Given the description of an element on the screen output the (x, y) to click on. 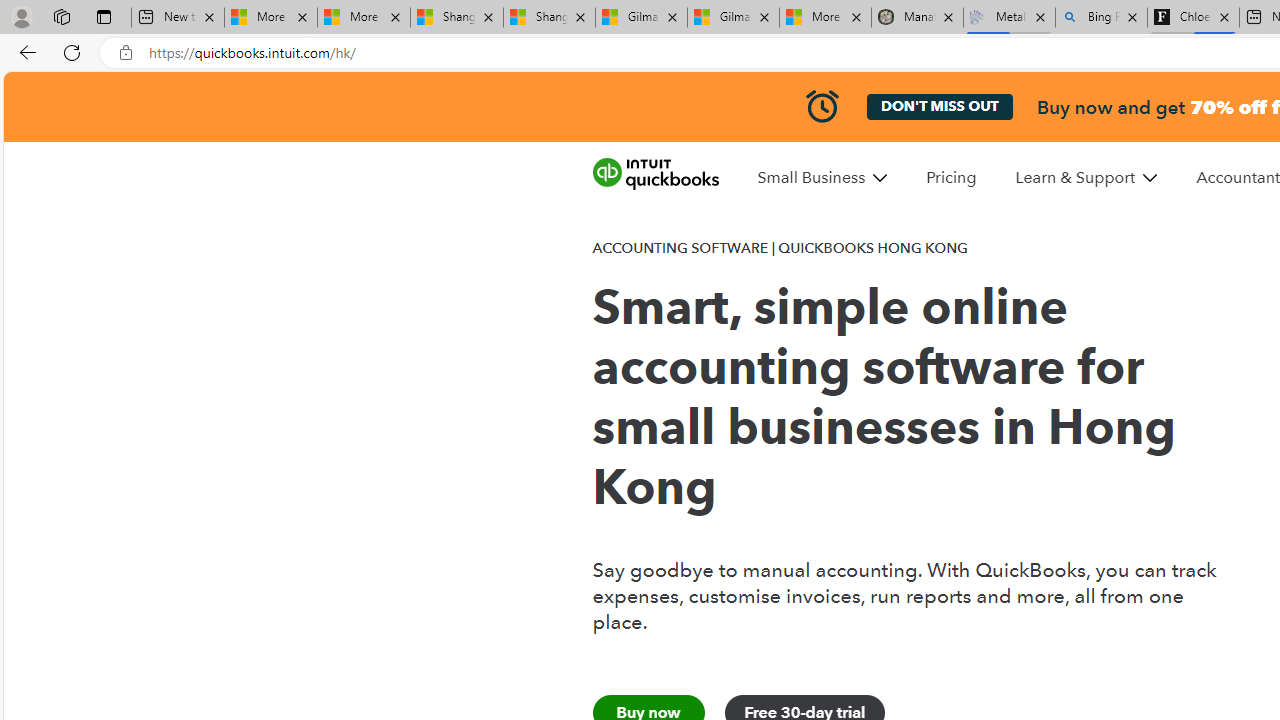
View site information (125, 53)
Gilma and Hector both pose tropical trouble for Hawaii (733, 17)
Pricing (950, 177)
Refresh (72, 52)
Tab actions menu (104, 16)
Bing Real Estate - Home sales and rental listings (1101, 17)
Close tab (1224, 16)
Shanghai, China weather forecast | Microsoft Weather (549, 17)
Manatee Mortality Statistics | FWC (916, 17)
